Given the description of an element on the screen output the (x, y) to click on. 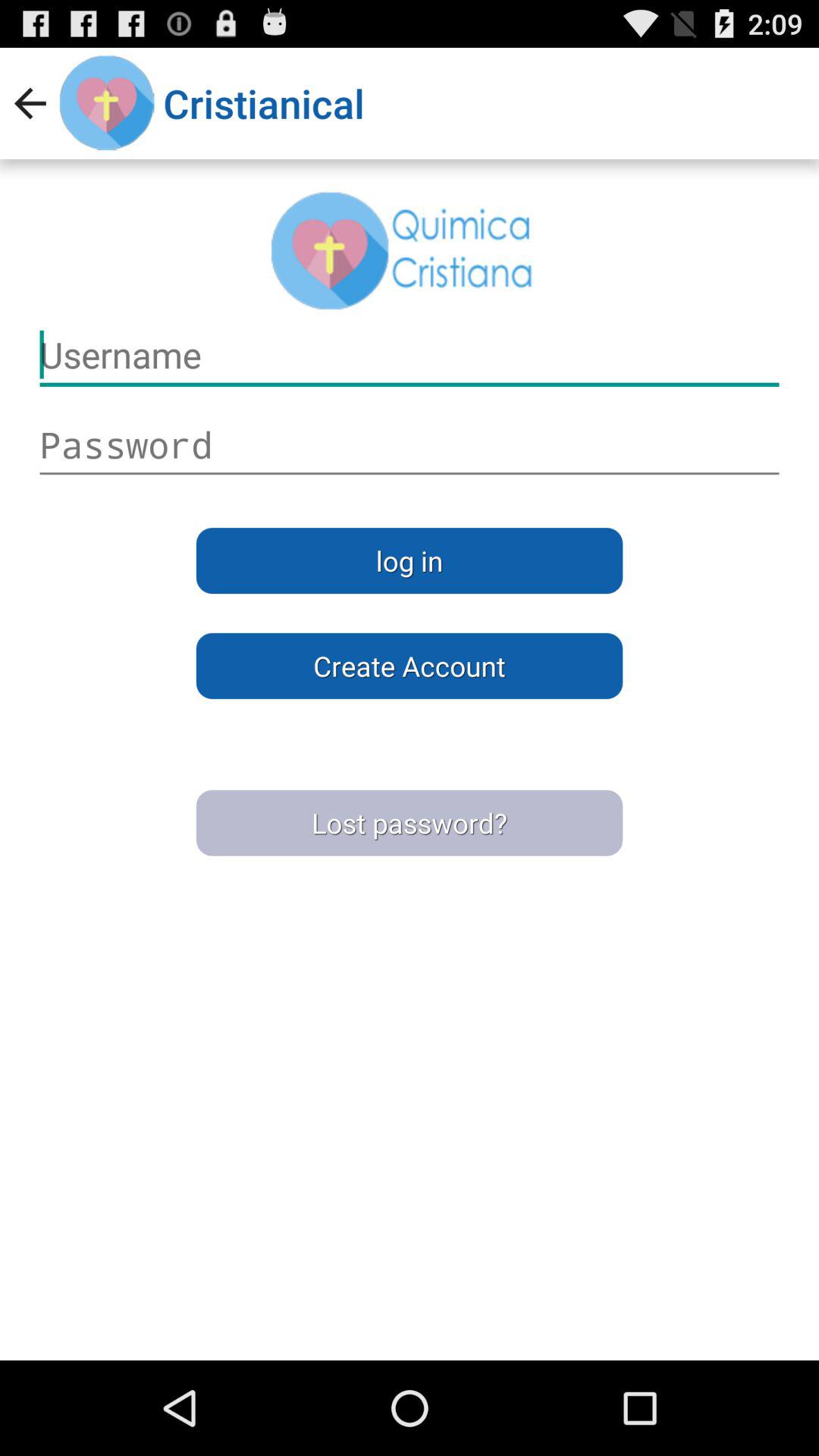
choose the item below create account item (409, 822)
